Given the description of an element on the screen output the (x, y) to click on. 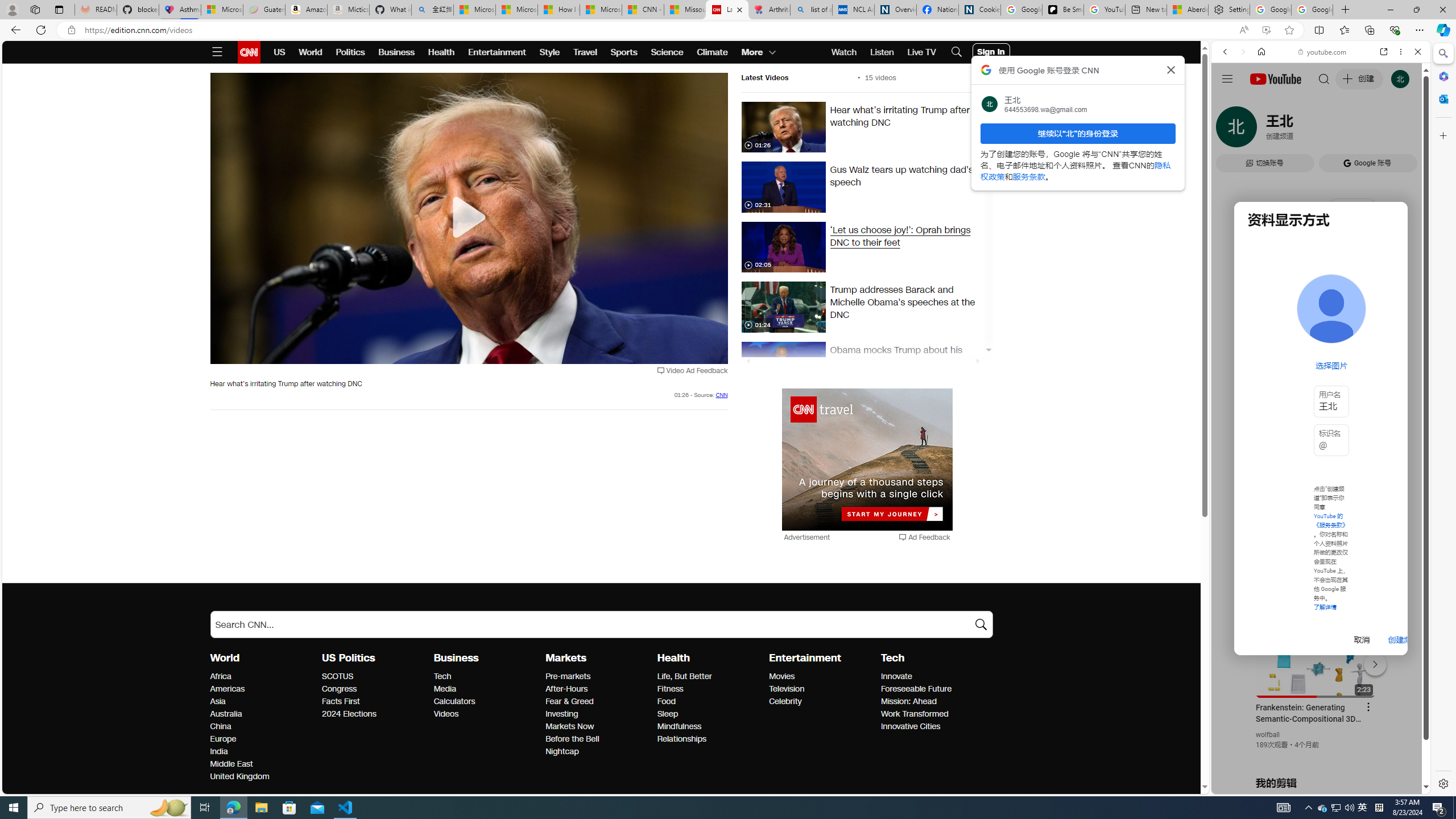
Search videos from youtube.com (1299, 373)
Business (456, 657)
Markets Markets Now (570, 726)
Tech Foreseeable Future (916, 688)
Middle East (262, 764)
Foreseeable Future (932, 688)
trumo.jpg (783, 306)
Fear & Greed (598, 701)
Tech (892, 657)
